Given the description of an element on the screen output the (x, y) to click on. 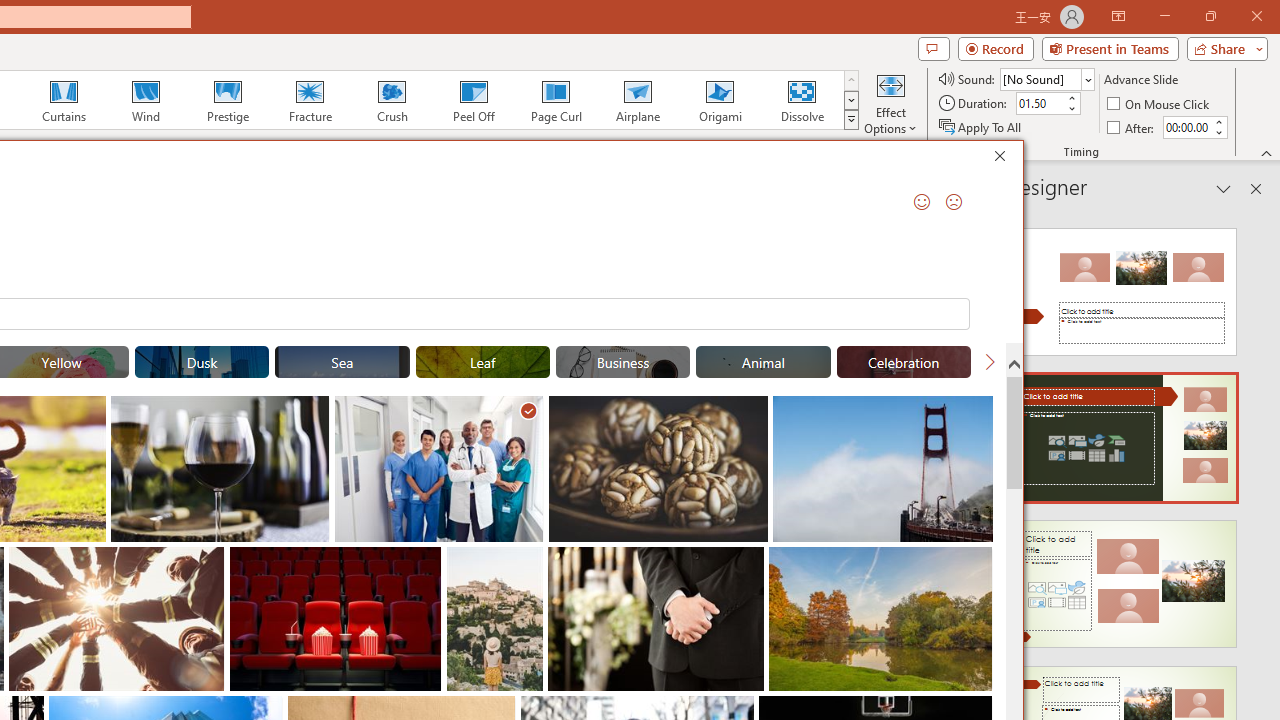
After (1186, 127)
Prestige (227, 100)
Row up (850, 79)
Ribbon Display Options (1118, 16)
"Animal" Stock Images. (763, 362)
Page Curl (555, 100)
Send a Frown (954, 201)
Send a Smile (922, 201)
On Mouse Click (1159, 103)
Wind (145, 100)
Restore Down (1210, 16)
"Sea" Stock Images. (342, 362)
